Given the description of an element on the screen output the (x, y) to click on. 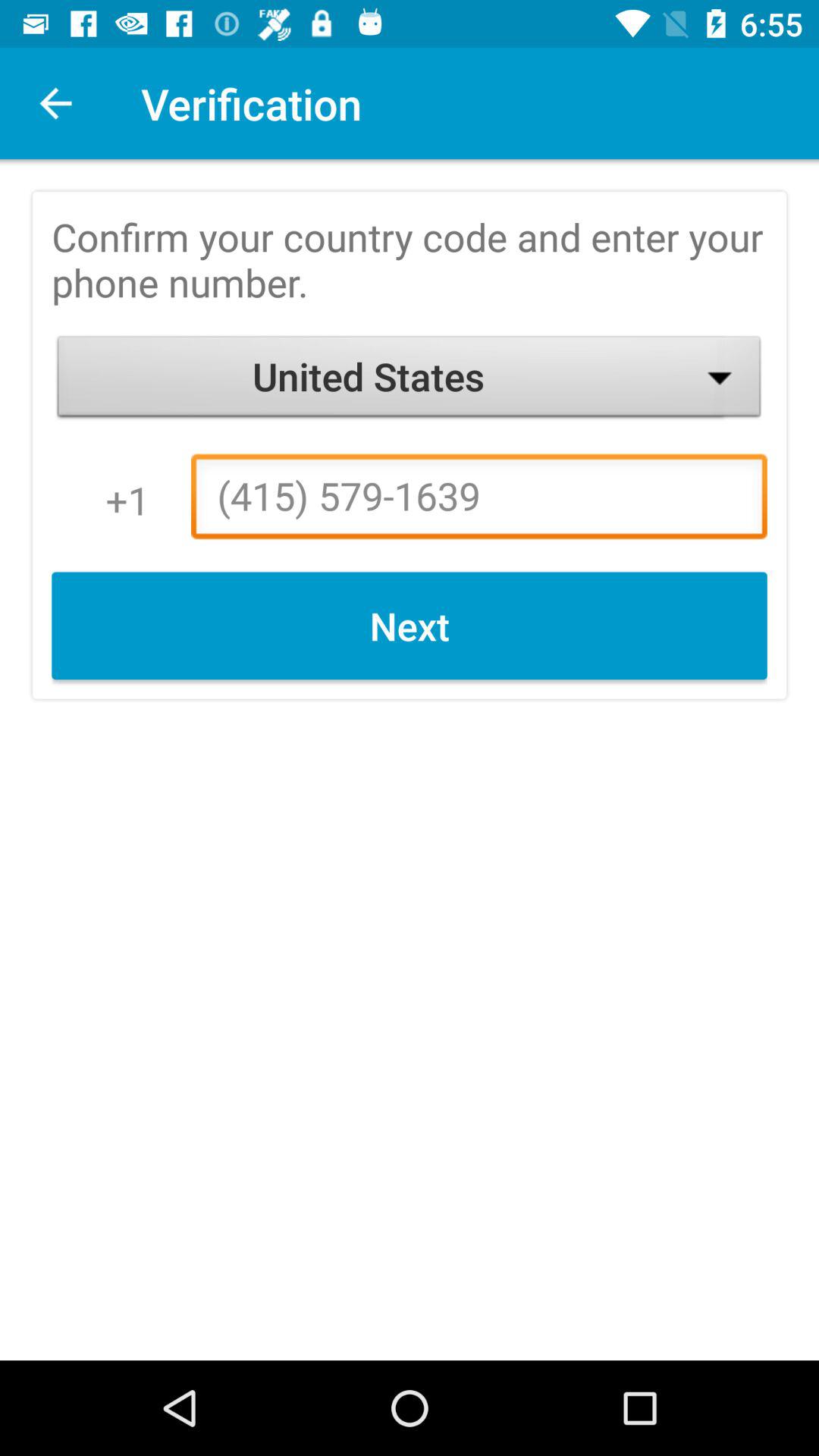
tap icon below the (415) 579-1639 icon (409, 625)
